Given the description of an element on the screen output the (x, y) to click on. 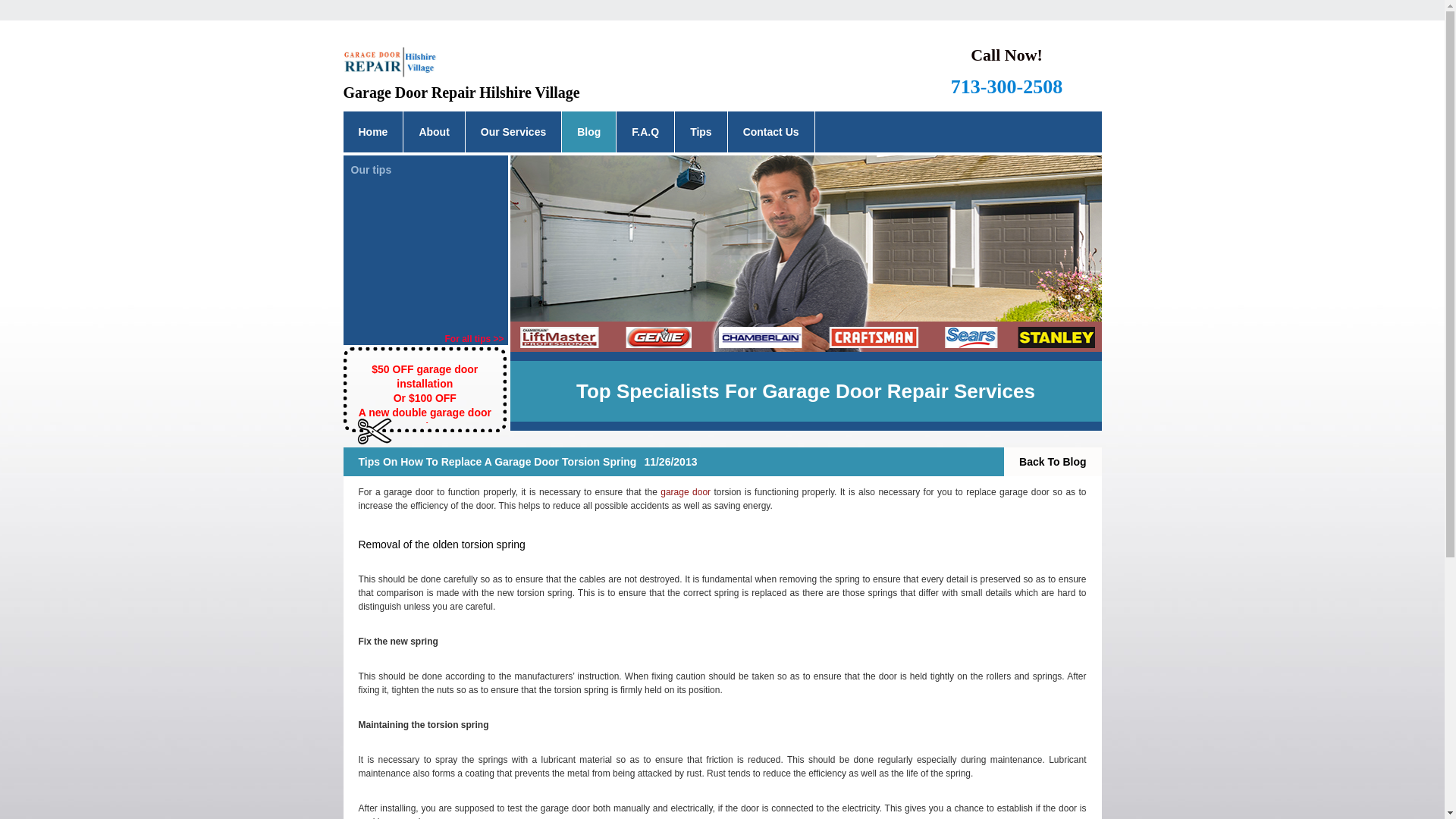
Blog (588, 131)
Tips (700, 131)
Back To Blog (1052, 461)
garage door (685, 491)
Our Services (512, 131)
Home (372, 131)
F.A.Q (644, 131)
About (433, 131)
Contact Us (770, 131)
